Given the description of an element on the screen output the (x, y) to click on. 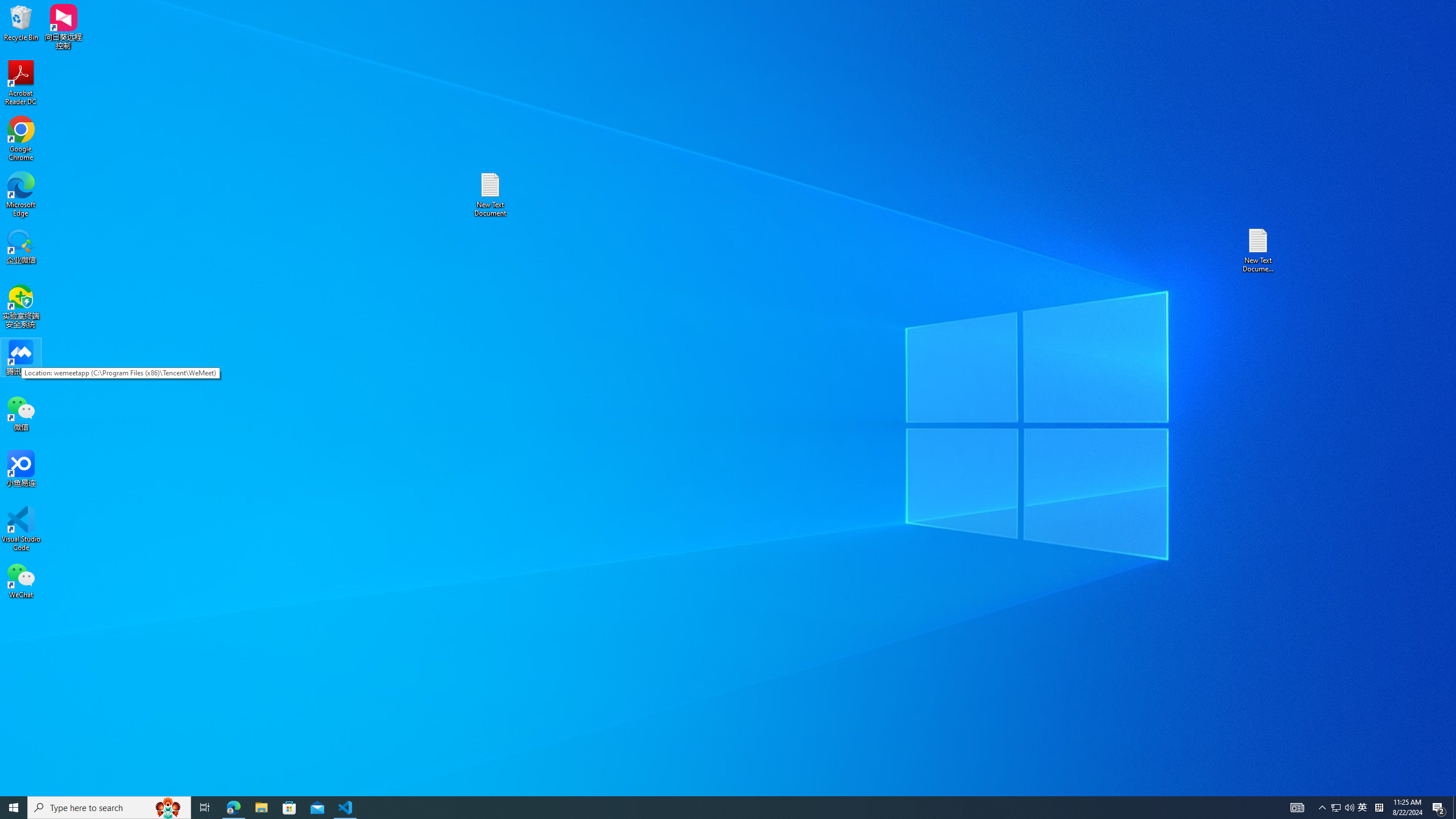
AutomationID: 4105 (1297, 807)
Google Chrome (21, 138)
Recycle Bin (21, 22)
Microsoft Edge - 1 running window (233, 807)
User Promoted Notification Area (1342, 807)
New Text Document (489, 194)
WeChat (21, 580)
Visual Studio Code - 1 running window (345, 807)
Q2790: 100% (1349, 807)
Running applications (707, 807)
